Given the description of an element on the screen output the (x, y) to click on. 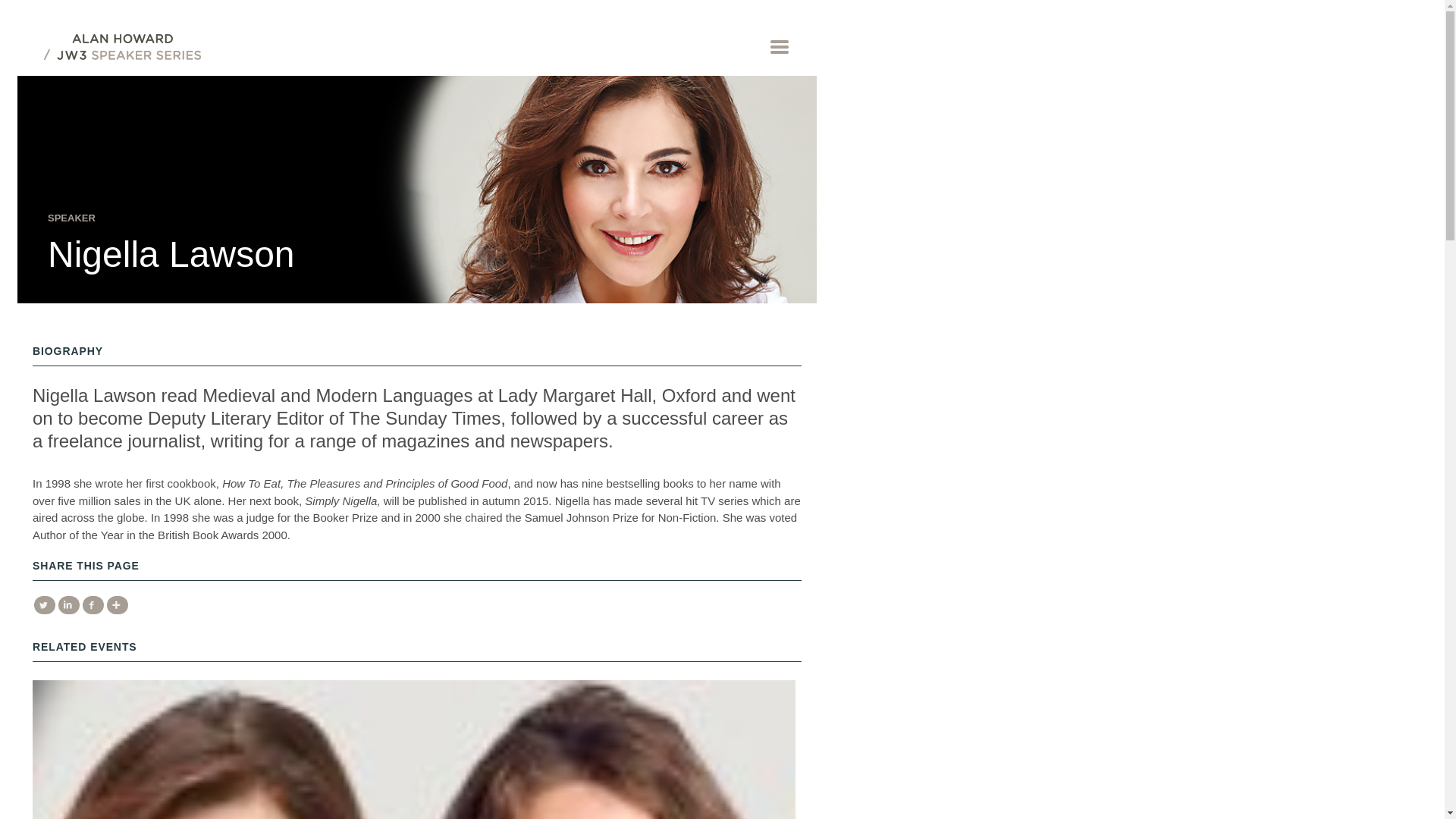
Subscribe (115, 11)
LinkedIn (69, 605)
Facebook (92, 605)
Twitter (44, 605)
